Given the description of an element on the screen output the (x, y) to click on. 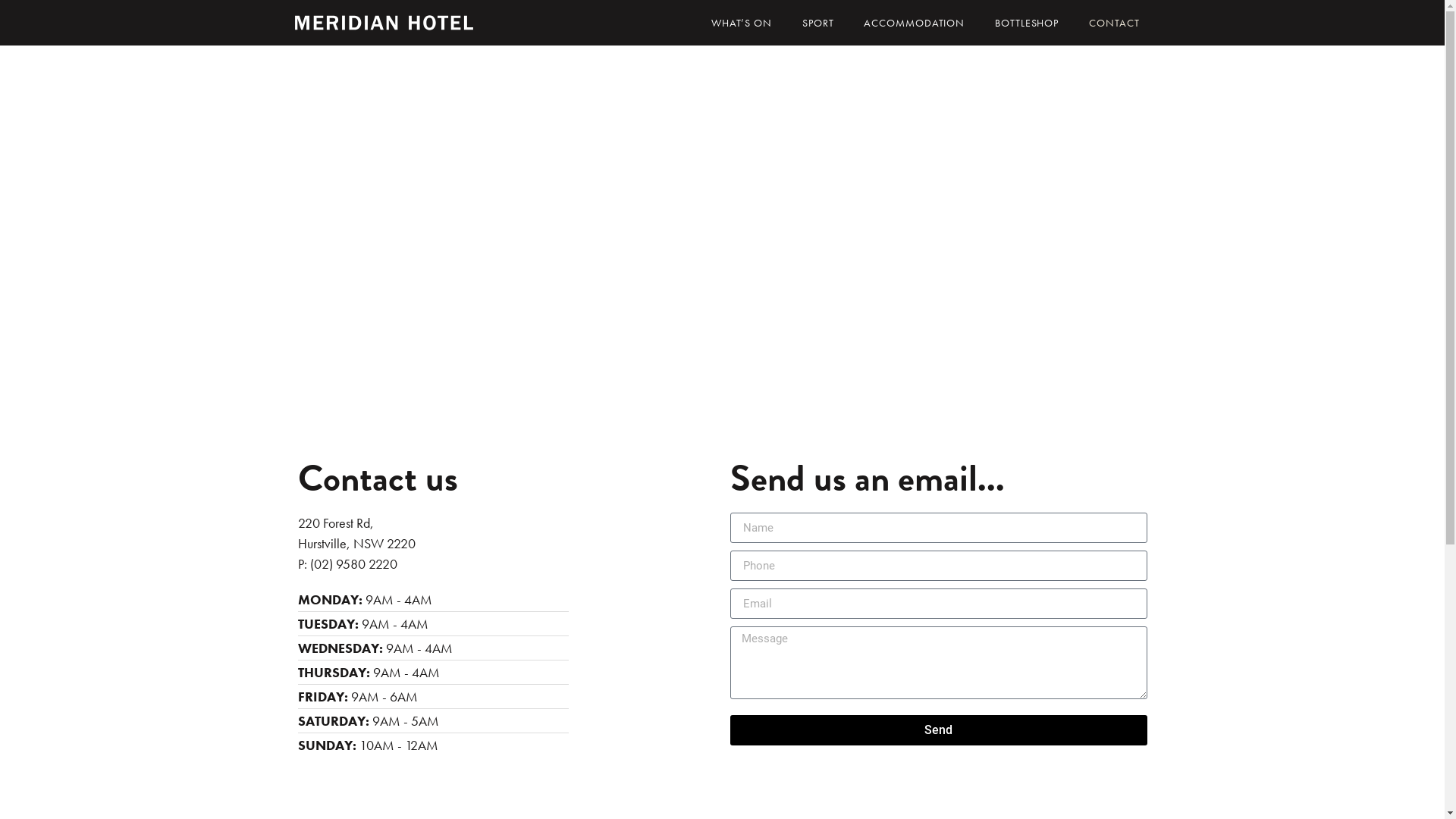
ACCOMMODATION Element type: text (913, 22)
Send Element type: text (937, 730)
meridian hotel hurstville Element type: hover (722, 241)
SPORT Element type: text (818, 22)
CONTACT Element type: text (1113, 22)
BOTTLESHOP Element type: text (1026, 22)
